Given the description of an element on the screen output the (x, y) to click on. 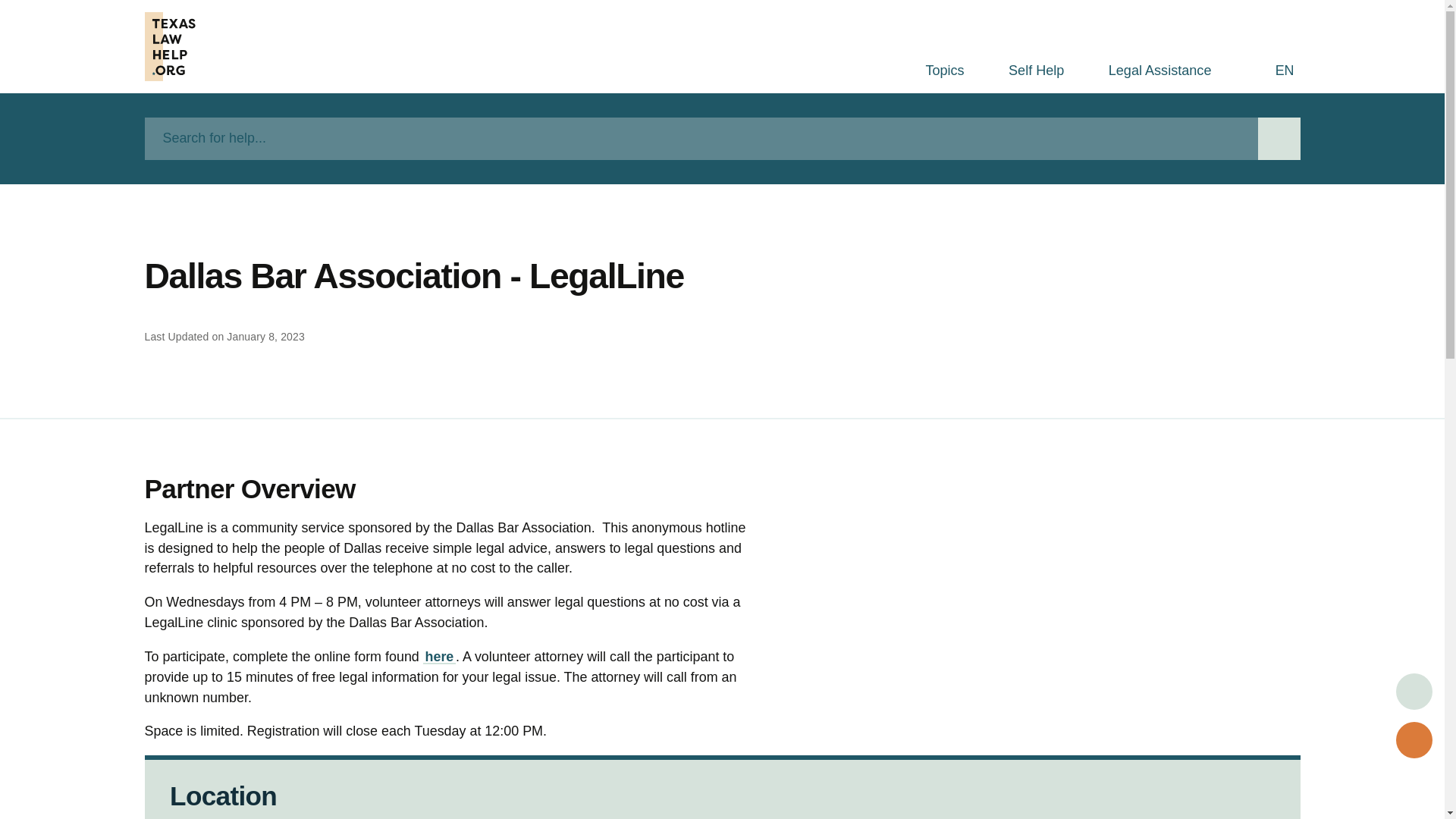
here (439, 656)
Search (1278, 138)
Enter the terms you wish to search for. (700, 138)
